Given the description of an element on the screen output the (x, y) to click on. 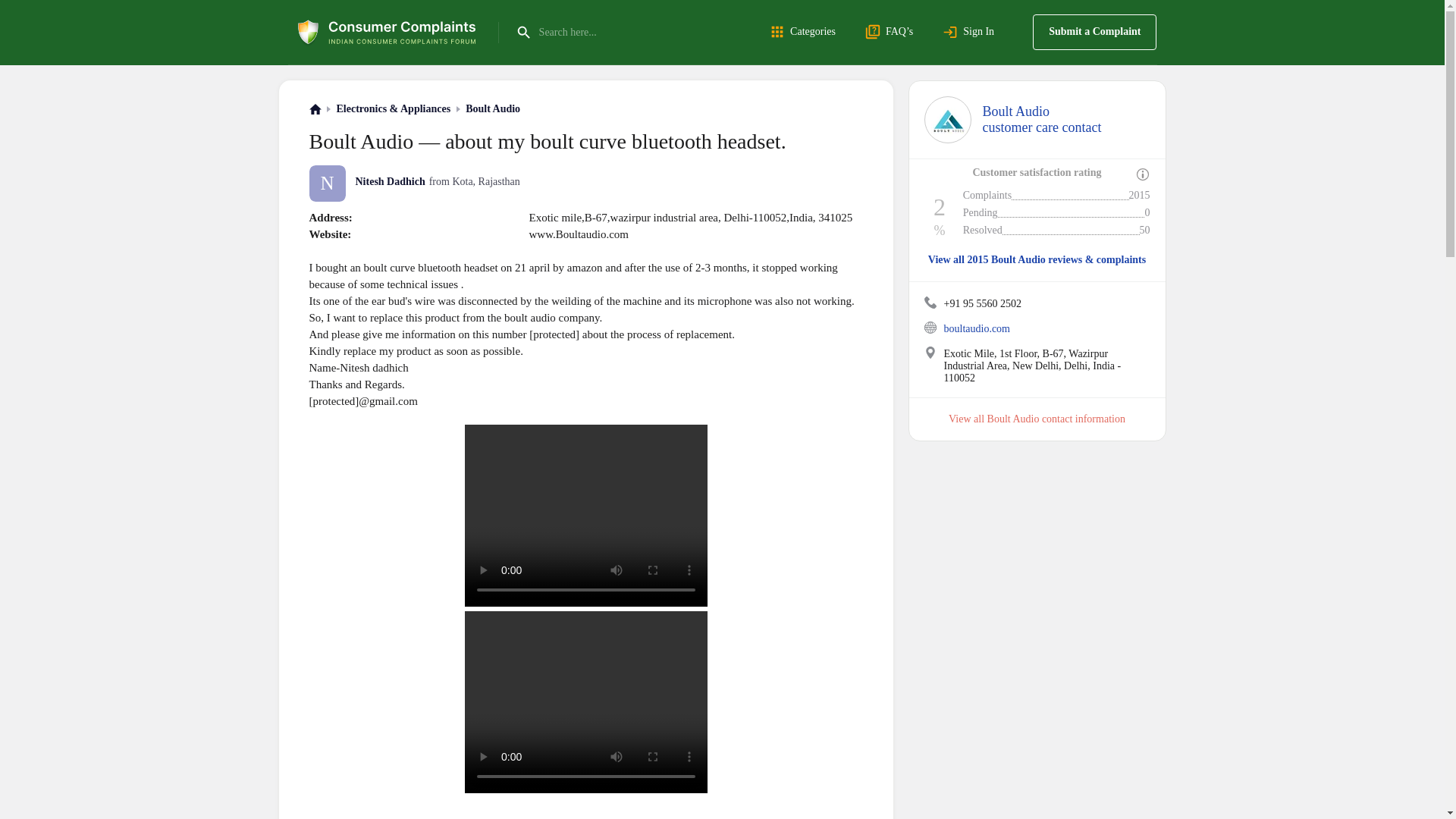
Boult Audio Address (929, 352)
Boult Audio Customer Care Service (947, 119)
Boult Audio (492, 109)
Boult Audio contact information (1056, 419)
Sign In (971, 31)
Categories (1042, 119)
Boult Audio Website (805, 31)
Boult Audio Phone (929, 327)
Submit a Complaint (929, 302)
